Given the description of an element on the screen output the (x, y) to click on. 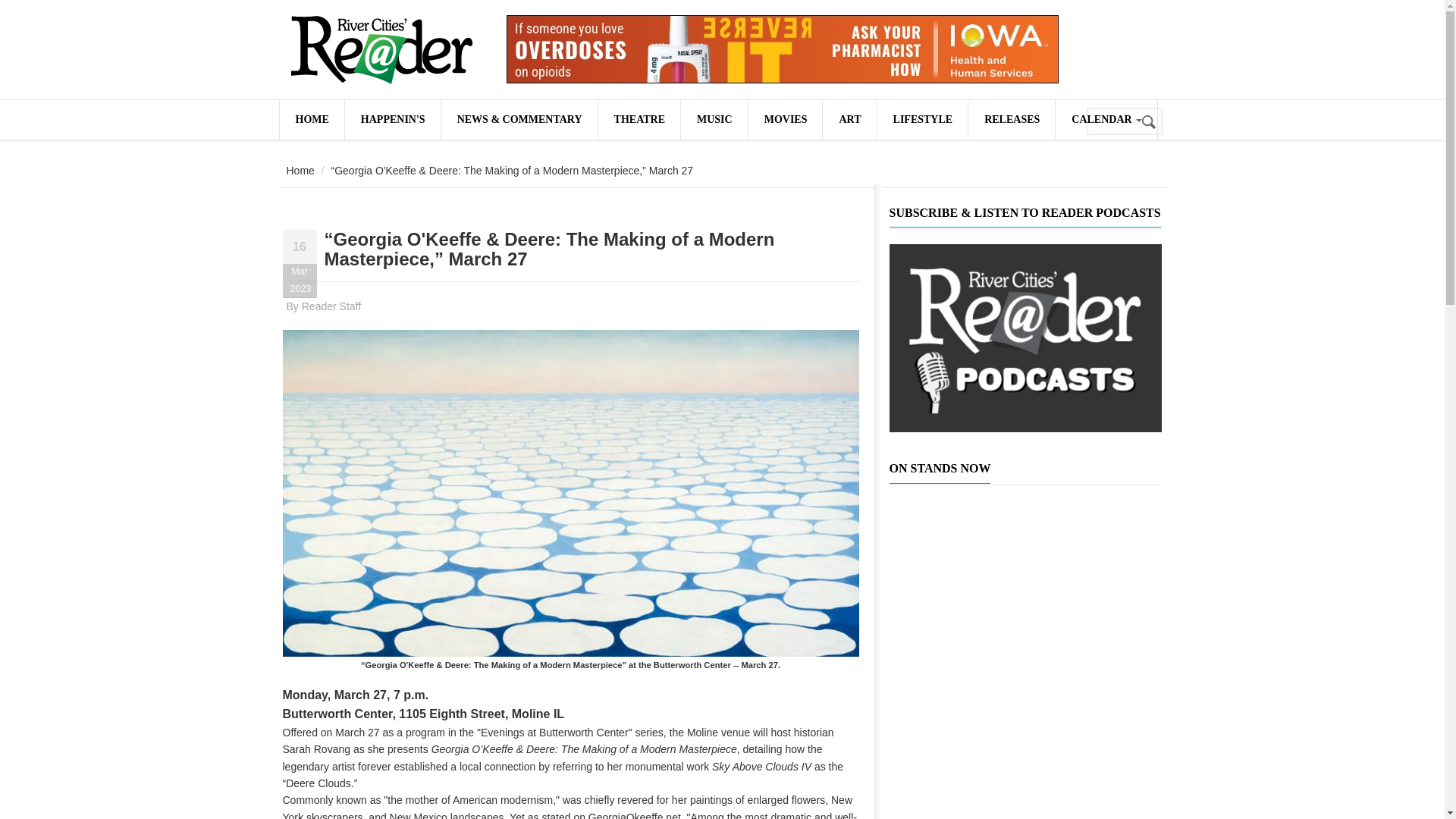
News Releases (1011, 119)
LIFESTYLE (922, 119)
Enter the terms you wish to search for. (1123, 121)
RELEASES (1011, 119)
Home (381, 49)
MUSIC (714, 119)
Theatre (638, 119)
Search (1149, 122)
ART (849, 119)
THEATRE (638, 119)
